Given the description of an element on the screen output the (x, y) to click on. 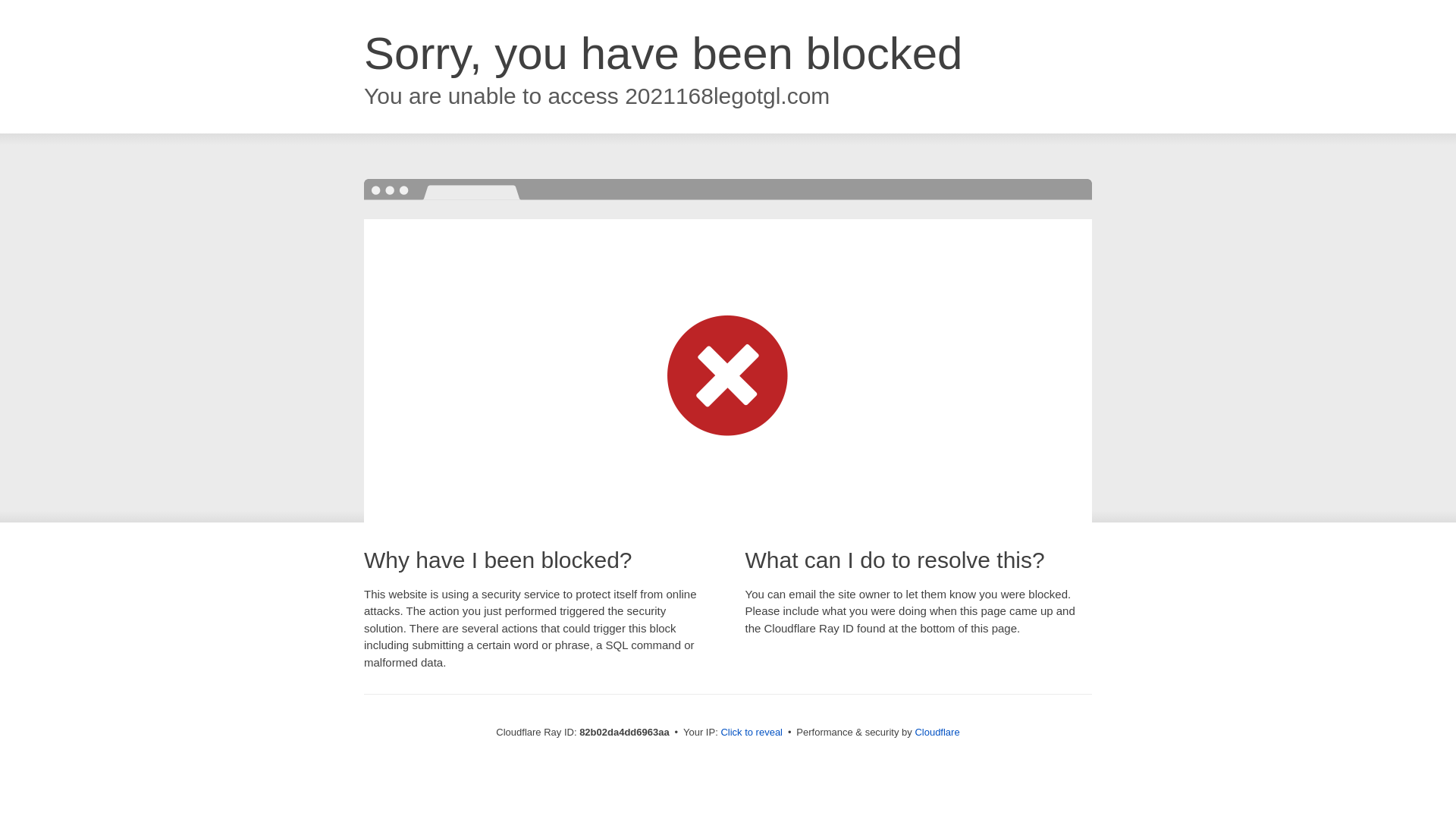
Cloudflare Element type: text (936, 731)
Click to reveal Element type: text (751, 732)
